Given the description of an element on the screen output the (x, y) to click on. 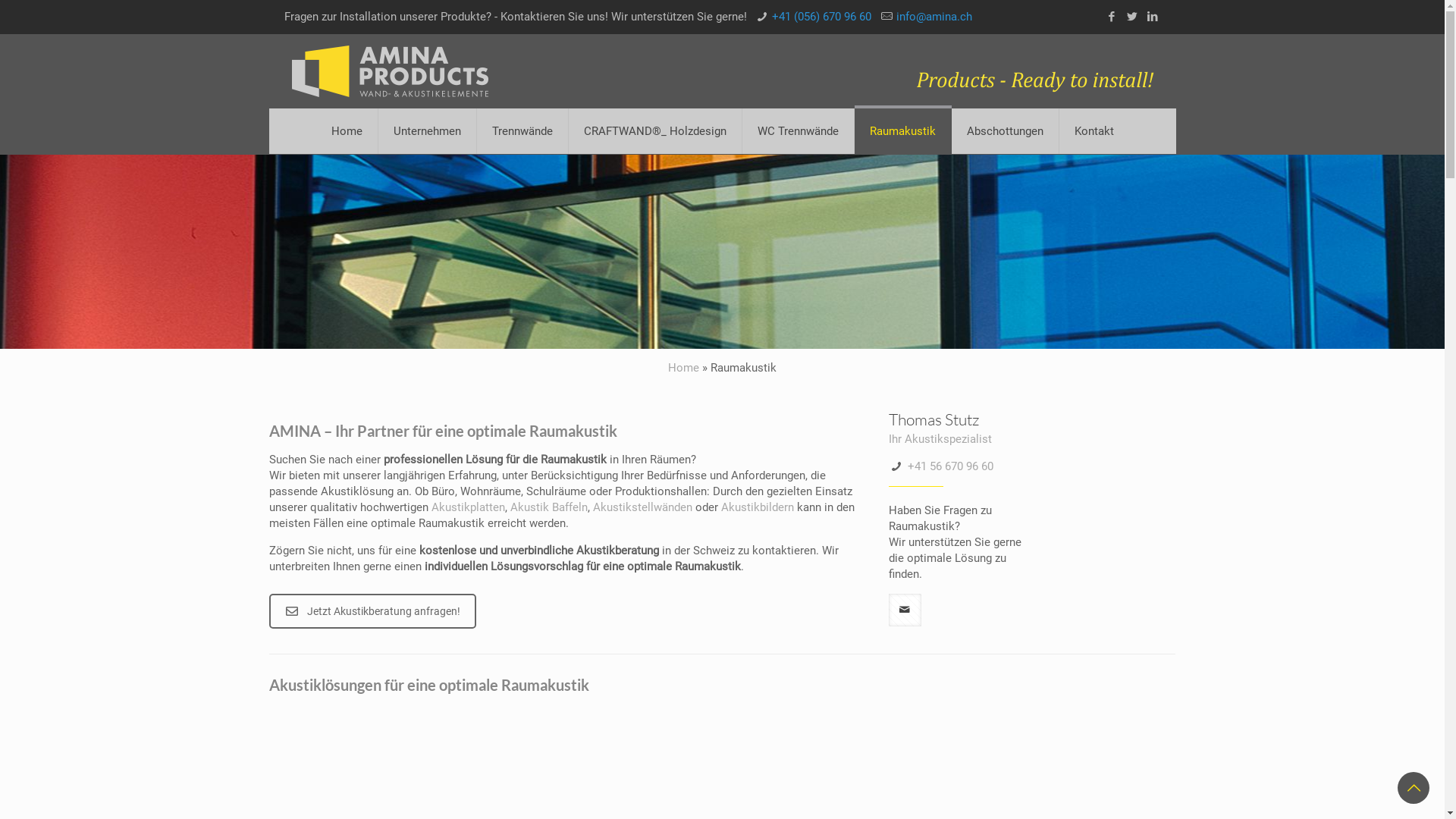
+41 56 670 96 60 Element type: text (950, 466)
+41 (056) 670 96 60 Element type: text (821, 16)
Kontakt Element type: text (1093, 130)
Twitter Element type: hover (1131, 16)
Unternehmen Element type: text (426, 130)
LinkedIn Element type: hover (1153, 16)
Home Element type: text (683, 367)
Home Element type: text (346, 130)
Abschottungen Element type: text (1004, 130)
Akustik Baffeln Element type: text (548, 507)
Amina Products Element type: hover (389, 71)
Akustikplatten Element type: text (468, 507)
Akustikbildern Element type: text (757, 507)
info@amina.ch Element type: text (934, 16)
Facebook Element type: hover (1112, 16)
Raumakustik Element type: text (901, 130)
Jetzt Akustikberatung anfragen! Element type: text (372, 610)
